Given the description of an element on the screen output the (x, y) to click on. 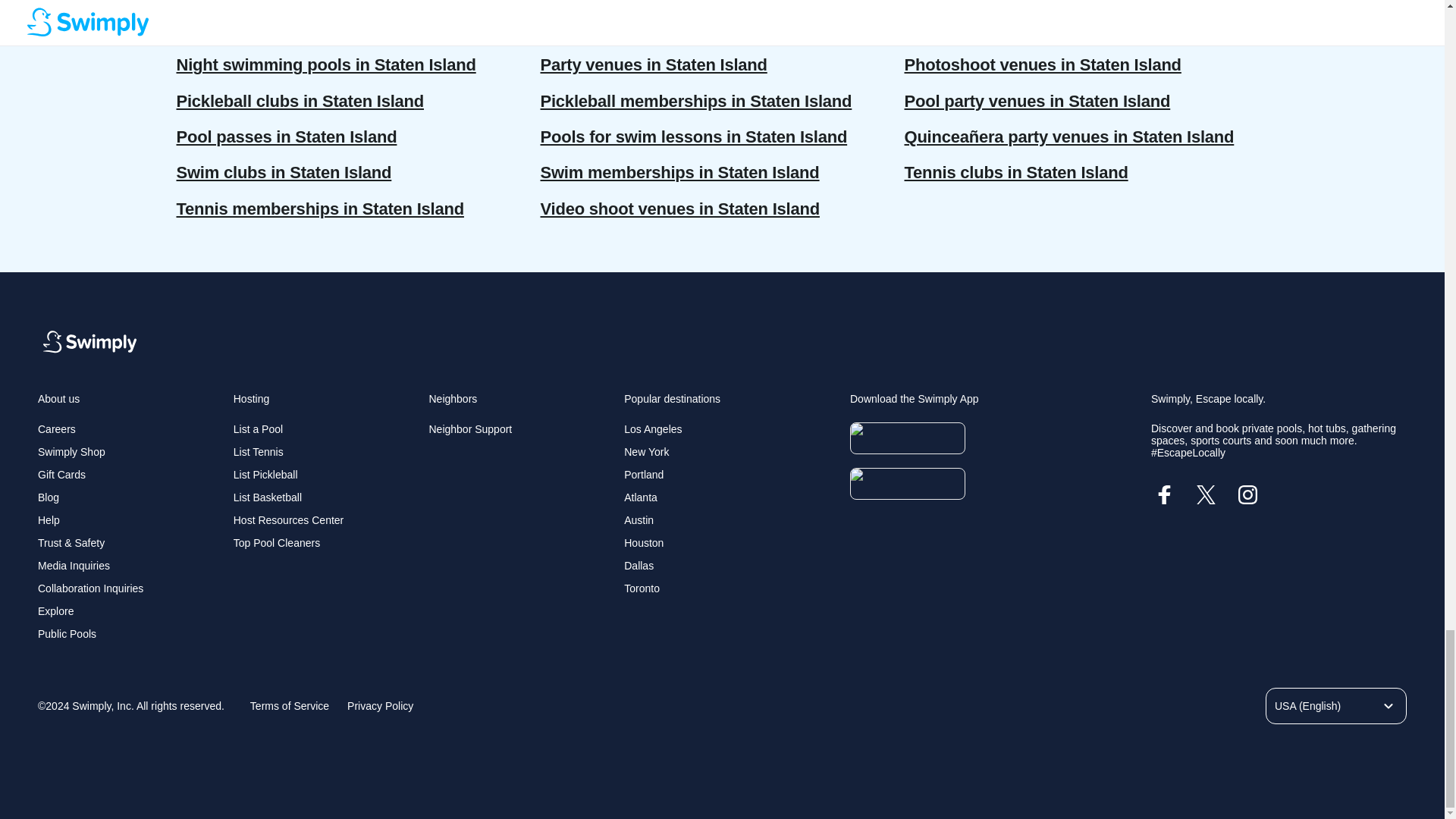
New York (646, 451)
List Pickleball (265, 474)
Explore (55, 611)
Neighbor Support (470, 428)
Top Pool Cleaners (276, 542)
Host Resources Center (287, 520)
Help (48, 520)
Gift Cards (61, 474)
List Basketball (266, 497)
Public Pools (66, 633)
